Given the description of an element on the screen output the (x, y) to click on. 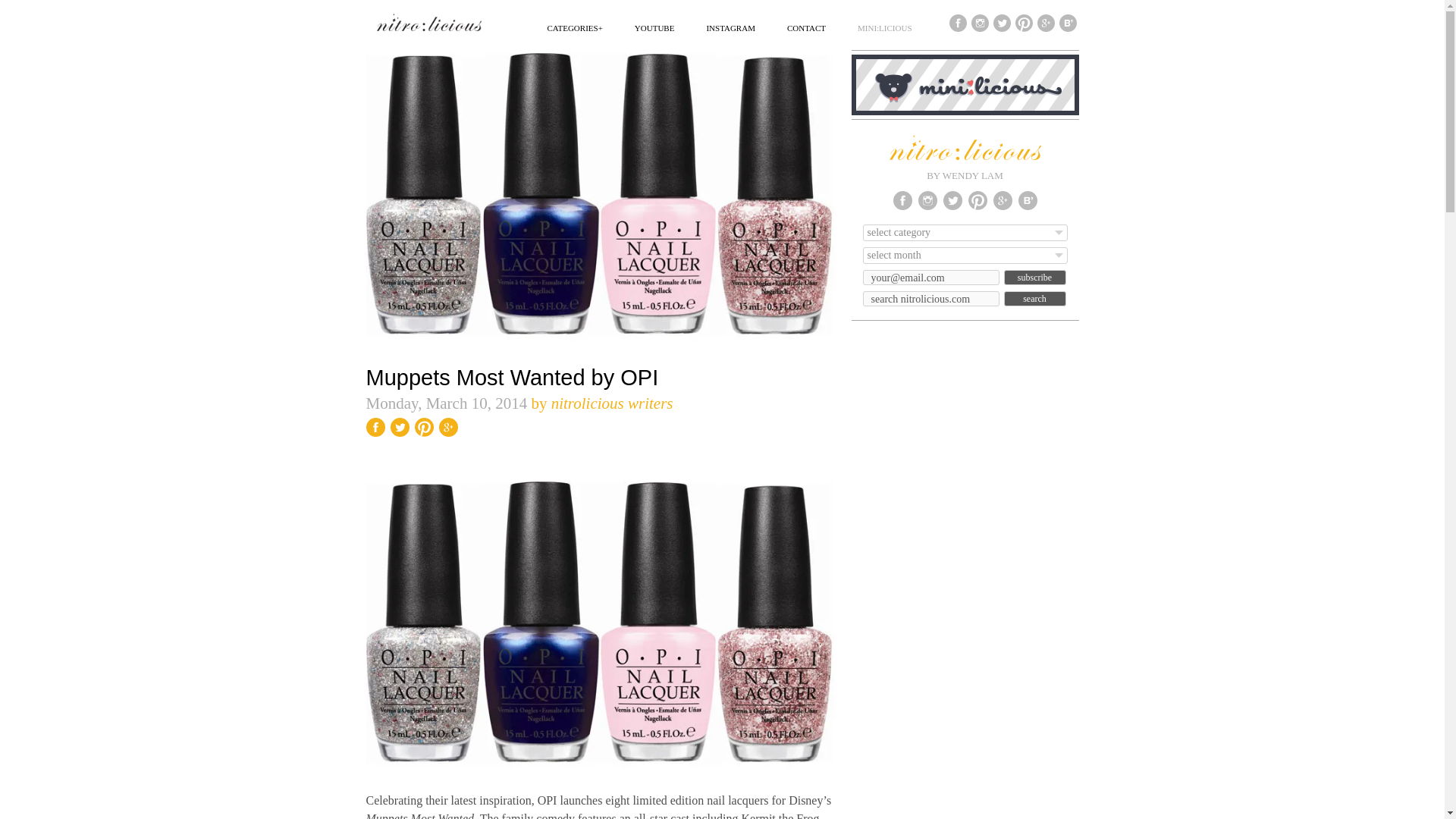
nitrolicious writers (611, 402)
MINI:LICIOUS (884, 28)
Search (1034, 298)
YOUTUBE (654, 28)
CONTACT (806, 28)
INSTAGRAM (730, 28)
Subscribe (1034, 277)
